Given the description of an element on the screen output the (x, y) to click on. 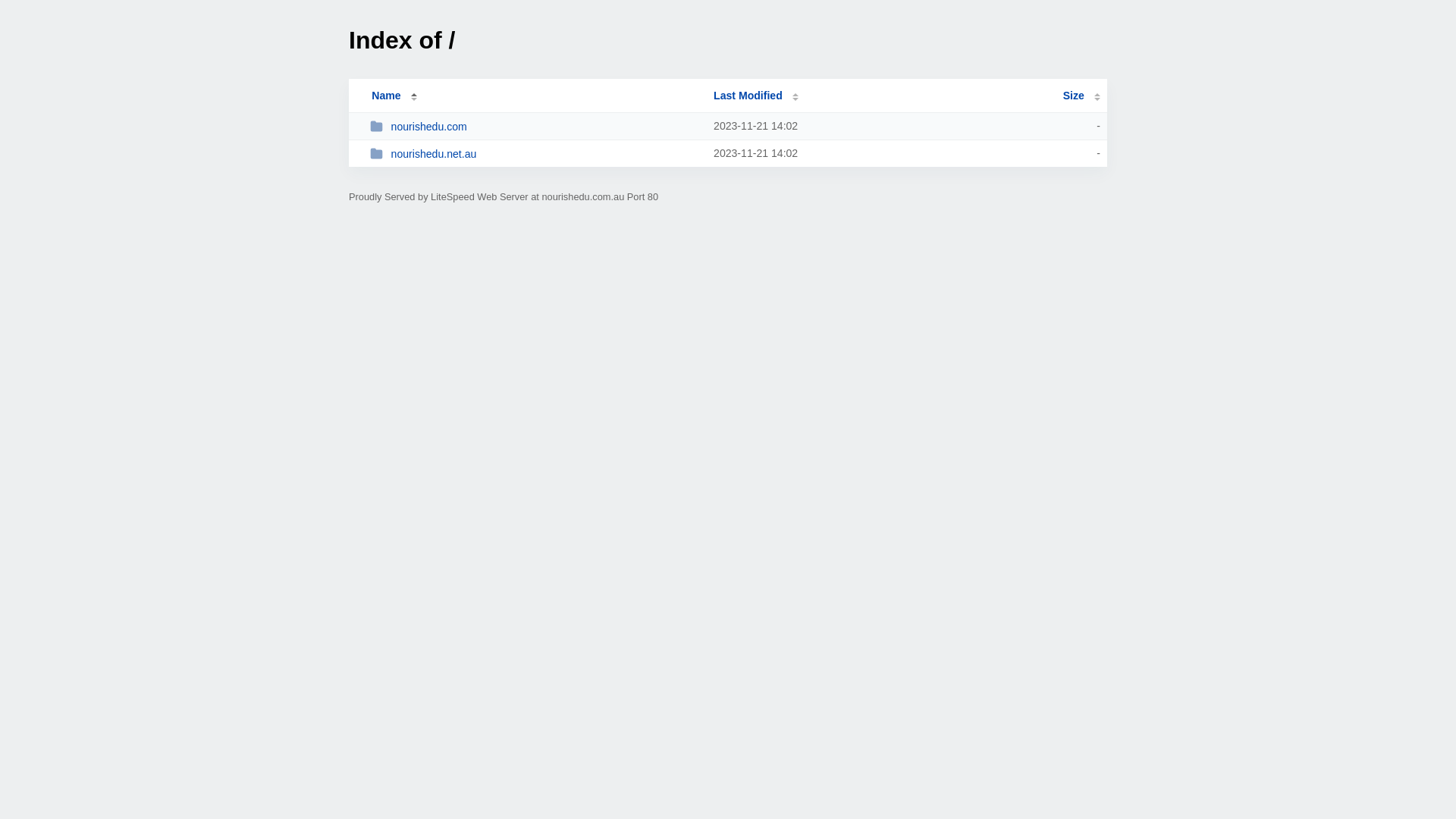
Name Element type: text (385, 95)
Size Element type: text (1081, 95)
nourishedu.com Element type: text (534, 125)
nourishedu.net.au Element type: text (534, 153)
Last Modified Element type: text (755, 95)
